Given the description of an element on the screen output the (x, y) to click on. 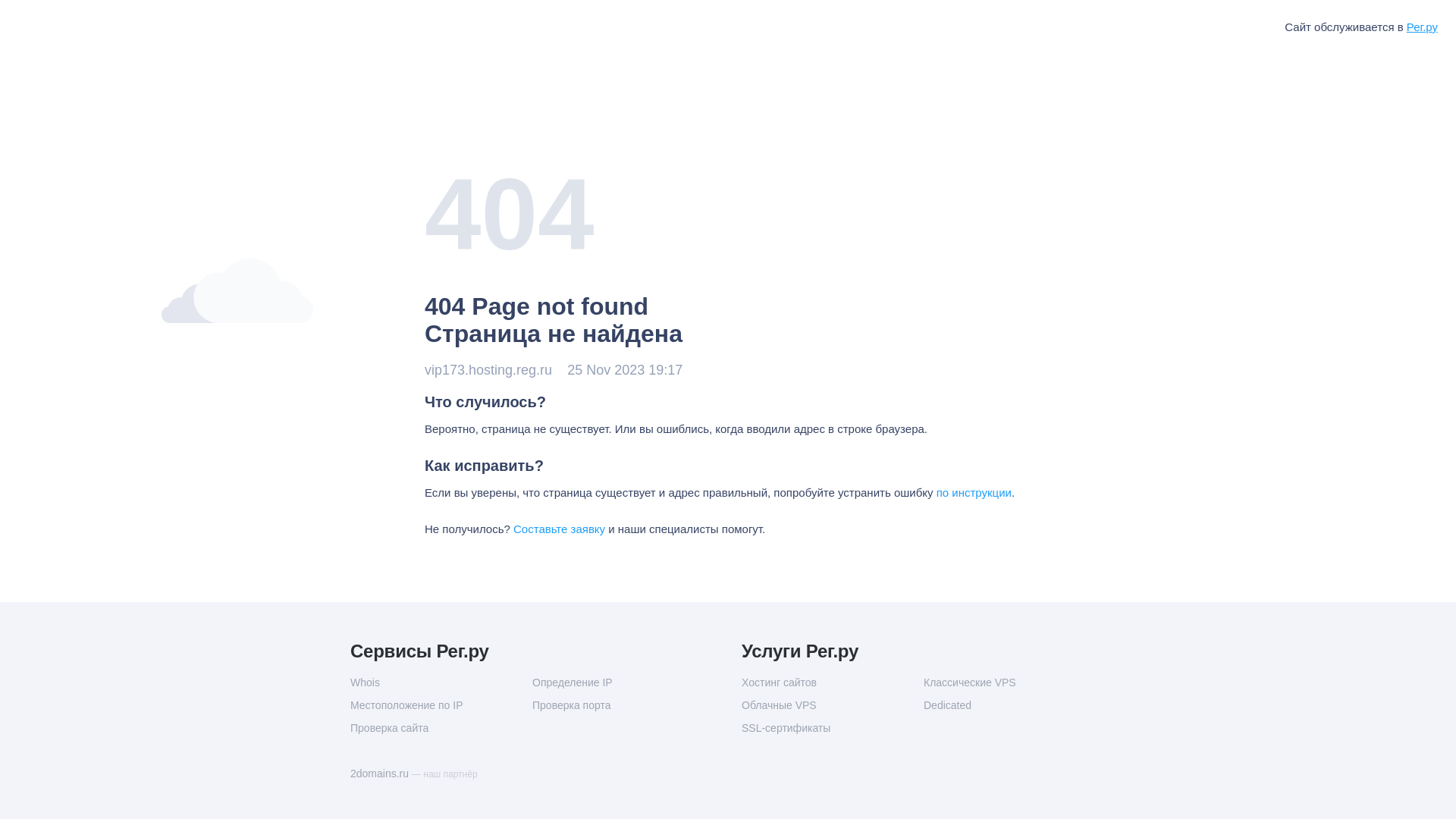
Whois Element type: text (441, 682)
Dedicated Element type: text (1014, 705)
2domains.ru Element type: text (380, 773)
